Given the description of an element on the screen output the (x, y) to click on. 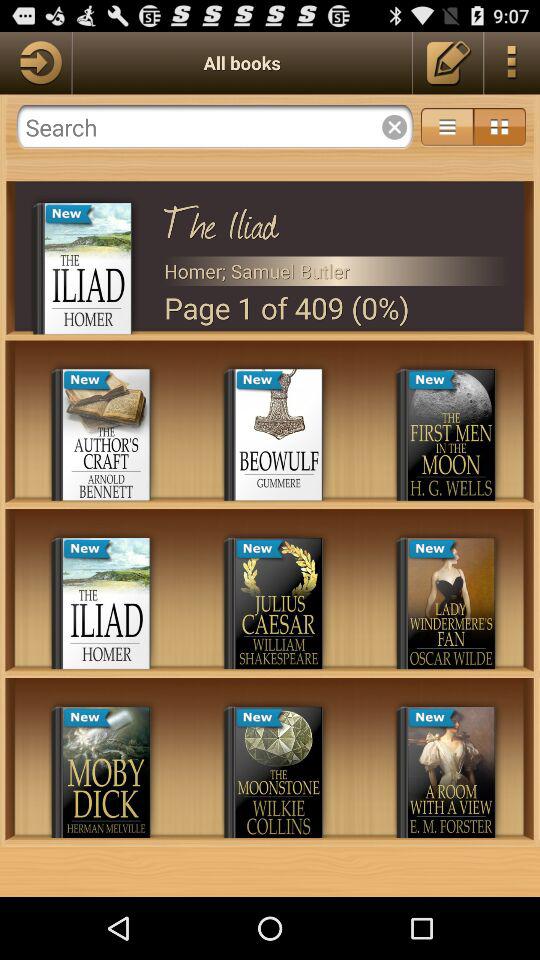
the menu bar (499, 127)
